Given the description of an element on the screen output the (x, y) to click on. 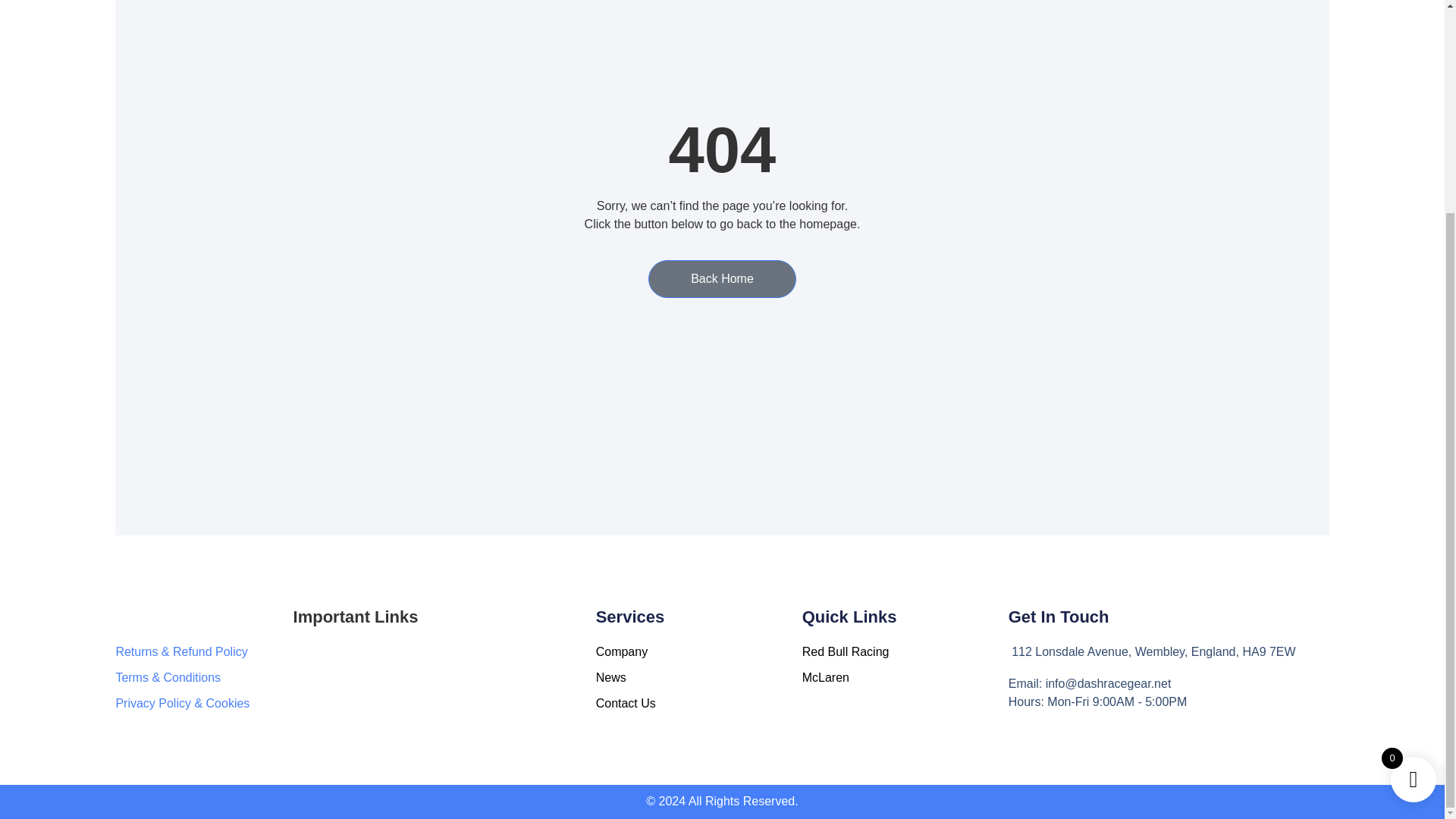
News (698, 678)
McLaren (905, 678)
Red Bull Racing (905, 651)
Company (698, 651)
Contact Us (698, 703)
Back Home (721, 279)
